Given the description of an element on the screen output the (x, y) to click on. 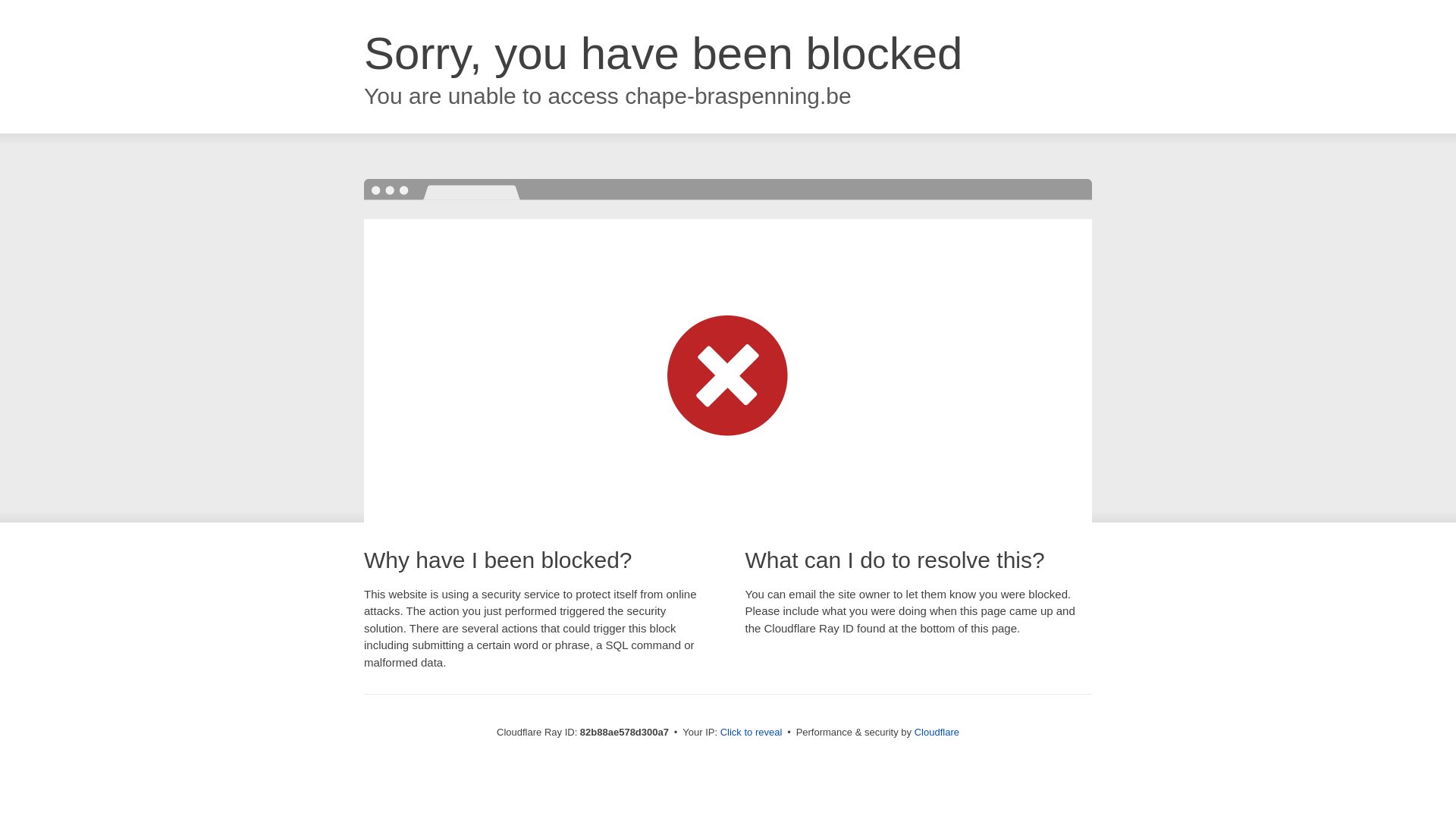
Click to reveal Element type: text (751, 732)
Cloudflare Element type: text (936, 731)
